Given the description of an element on the screen output the (x, y) to click on. 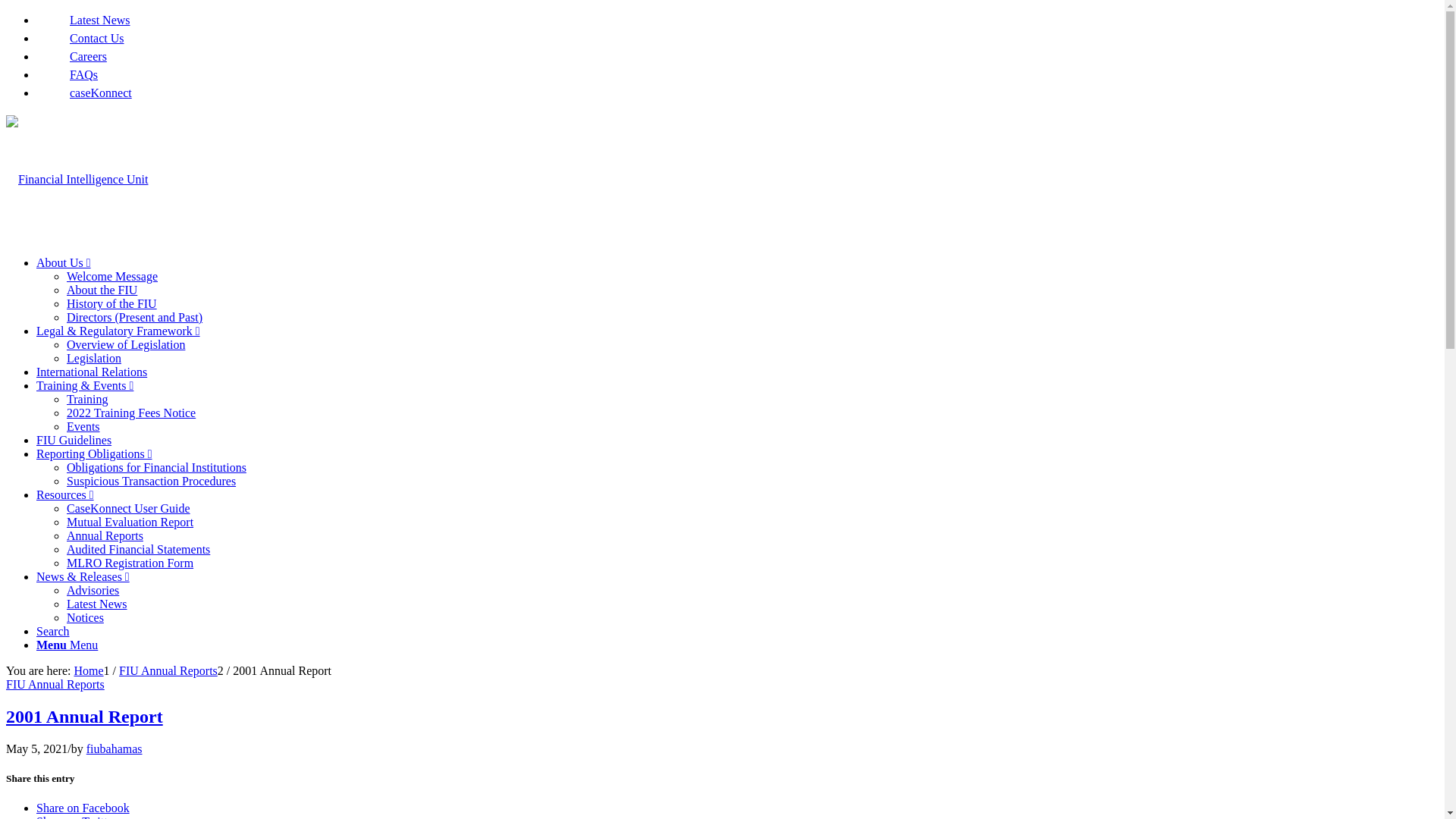
Notices Element type: text (84, 617)
Advisories Element type: text (92, 589)
Events Element type: text (83, 426)
Mutual Evaluation Report Element type: text (129, 521)
2001 Annual Report Element type: text (84, 716)
Training Element type: text (87, 398)
FIU Guidelines Element type: text (73, 439)
Overview of Legislation Element type: text (125, 344)
MLRO Registration Form Element type: text (129, 562)
International Relations Element type: text (91, 371)
2022 Training Fees Notice Element type: text (130, 412)
Share on Facebook Element type: text (82, 807)
History of the FIU Element type: text (111, 303)
Audited Financial Statements Element type: text (138, 548)
About the FIU Element type: text (101, 289)
fiubahamas Element type: text (114, 748)
Search Element type: text (52, 630)
Contact Us Element type: text (80, 37)
CaseKonnect User Guide Element type: text (128, 508)
Welcome Message Element type: text (111, 275)
caseKonnect Element type: text (83, 92)
FAQs Element type: text (66, 74)
Obligations for Financial Institutions Element type: text (156, 467)
Annual Reports Element type: text (104, 535)
Latest News Element type: text (96, 603)
Careers Element type: text (71, 56)
Menu Menu Element type: text (66, 644)
FIU Annual Reports Element type: text (168, 670)
Suspicious Transaction Procedures Element type: text (150, 480)
Legislation Element type: text (93, 357)
Directors (Present and Past) Element type: text (134, 316)
Latest News Element type: text (83, 19)
Home Element type: text (88, 670)
FIU Annual Reports Element type: text (55, 683)
